Given the description of an element on the screen output the (x, y) to click on. 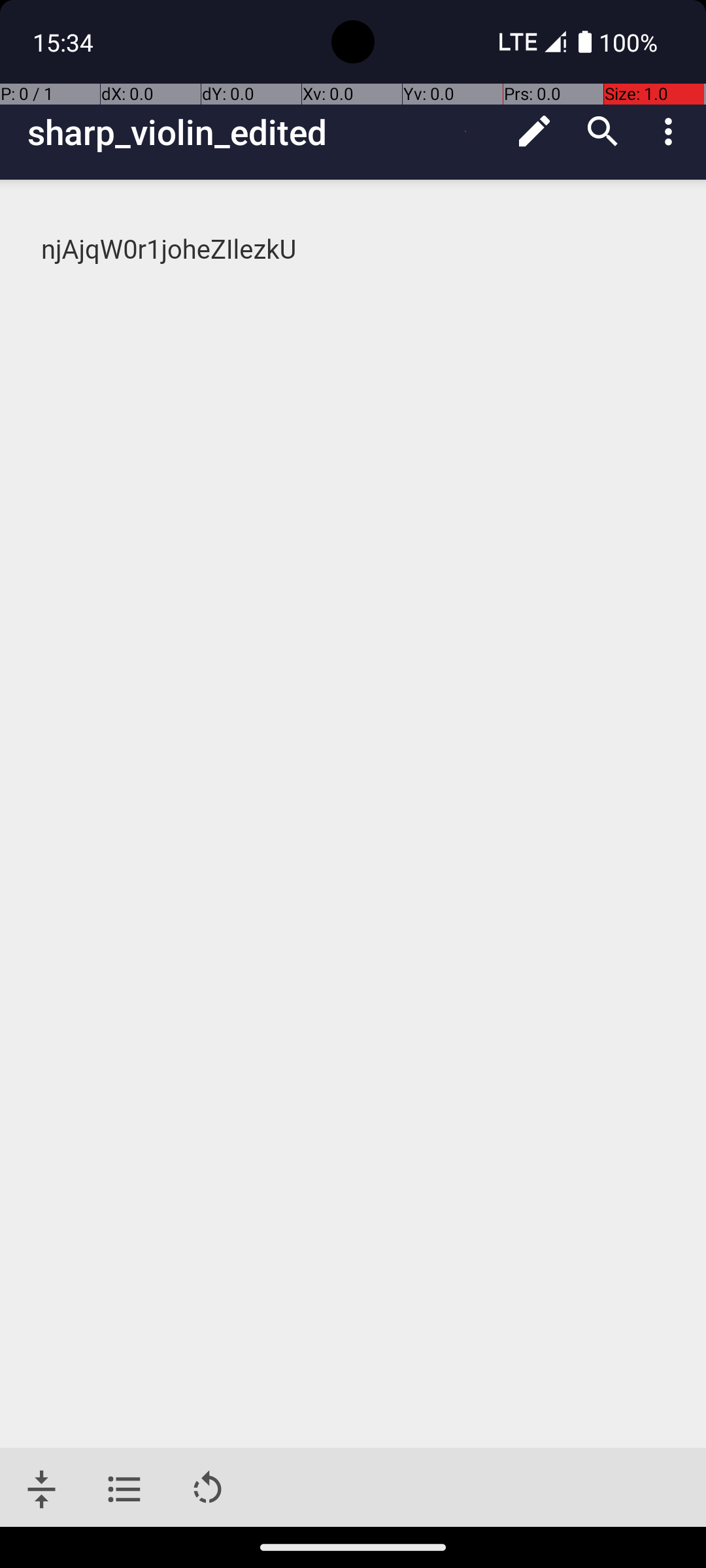
sharp_violin_edited Element type: android.widget.TextView (263, 131)
njAjqW0r1joheZIlezkU Element type: android.widget.TextView (354, 249)
